Given the description of an element on the screen output the (x, y) to click on. 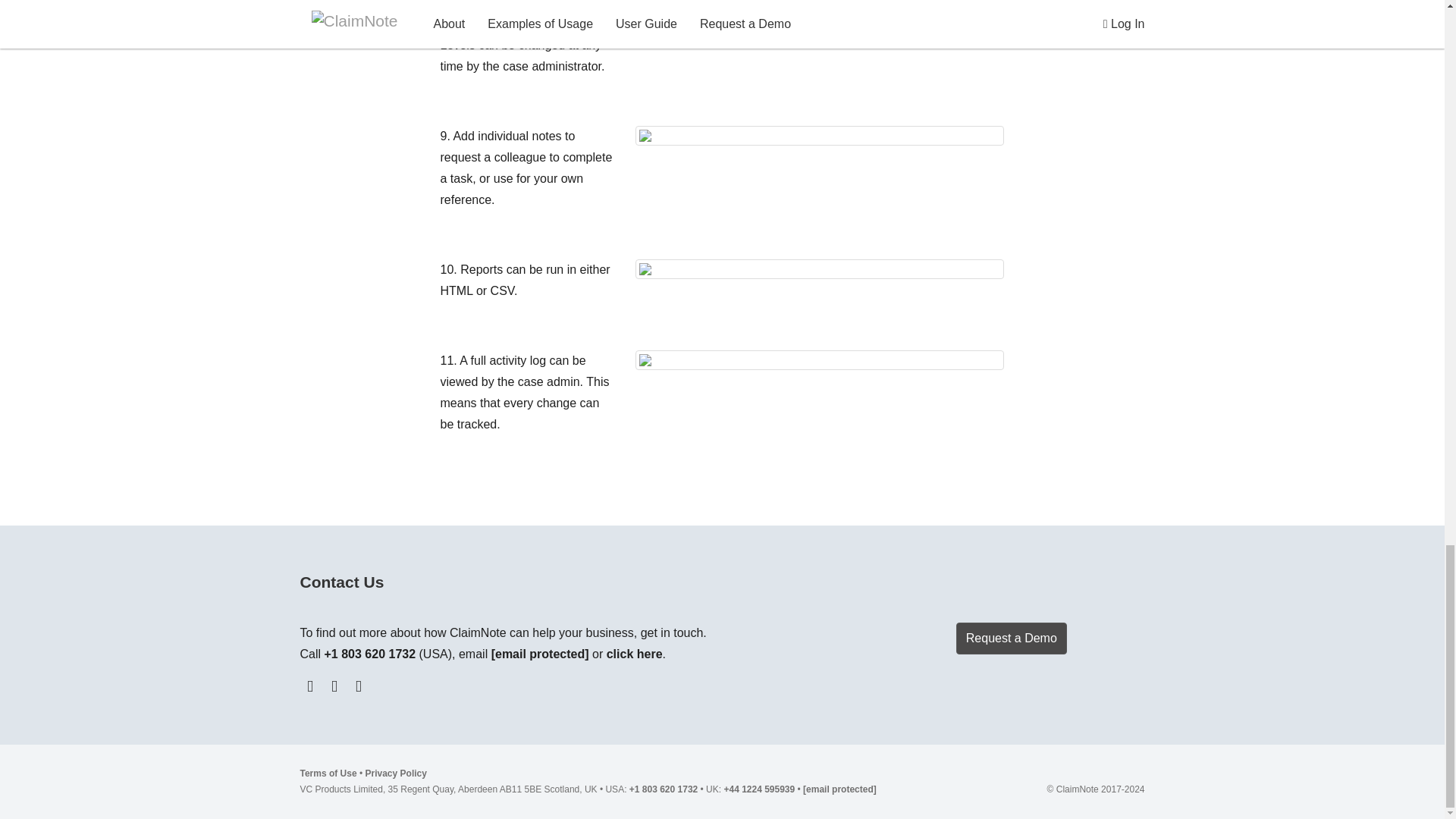
click here (634, 653)
Privacy Policy (395, 773)
Terms of Use (327, 773)
Request a Demo (1011, 638)
